Given the description of an element on the screen output the (x, y) to click on. 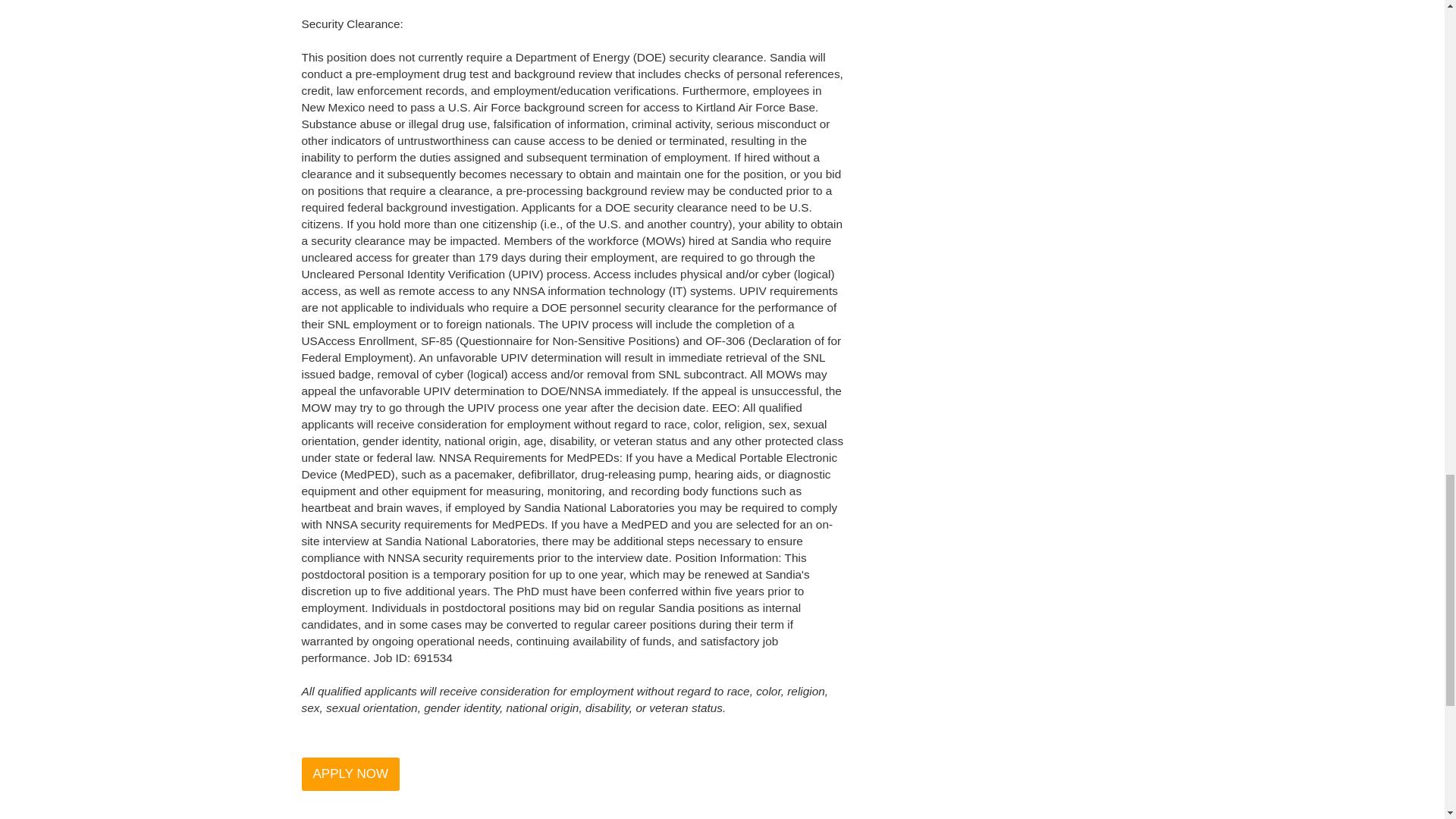
APPLY NOW (350, 774)
